Given the description of an element on the screen output the (x, y) to click on. 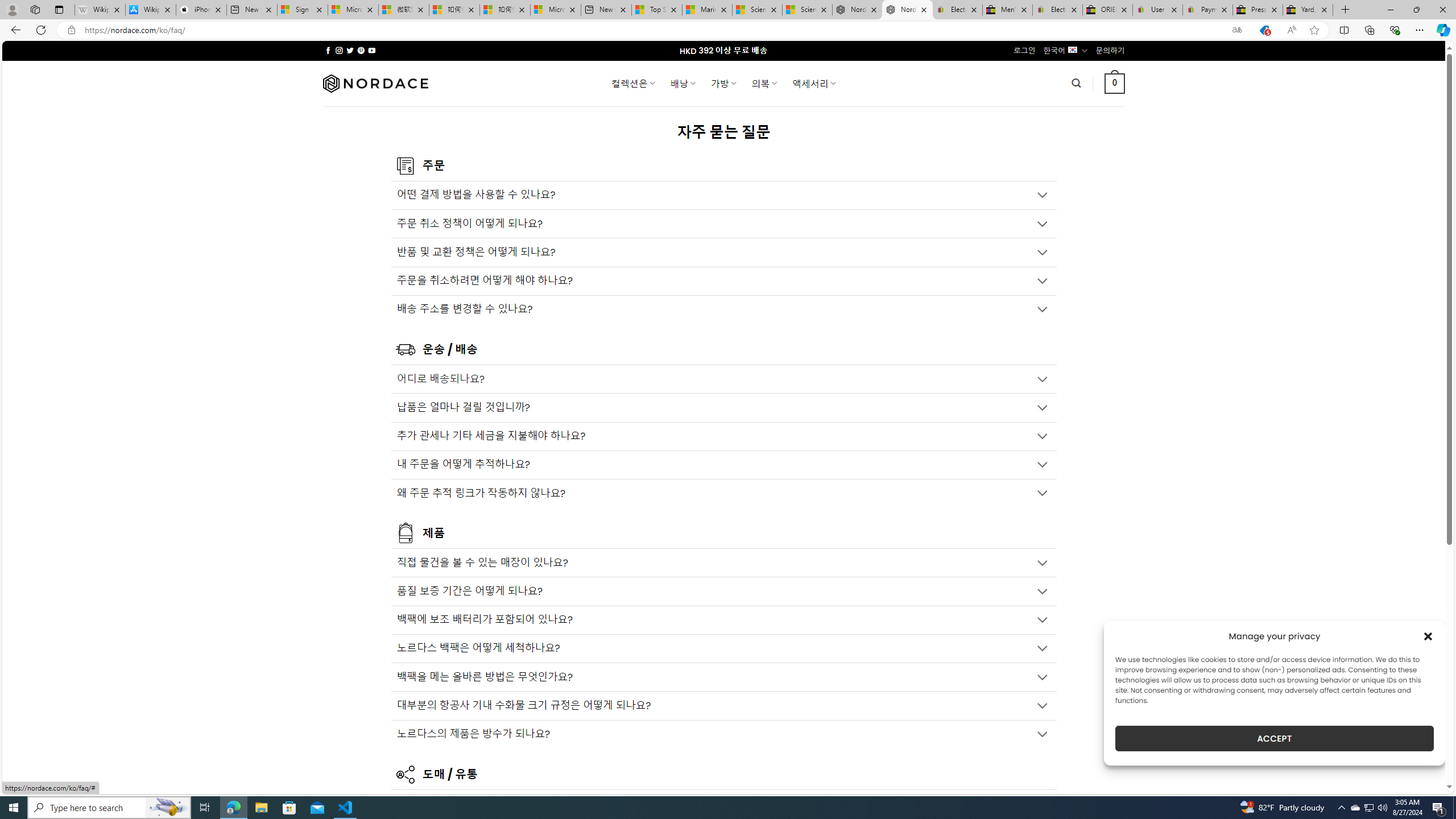
Marine life - MSN (706, 9)
Microsoft Services Agreement (352, 9)
Sign in to your Microsoft account (302, 9)
Nordace - FAQ (907, 9)
Follow on Twitter (349, 50)
